Given the description of an element on the screen output the (x, y) to click on. 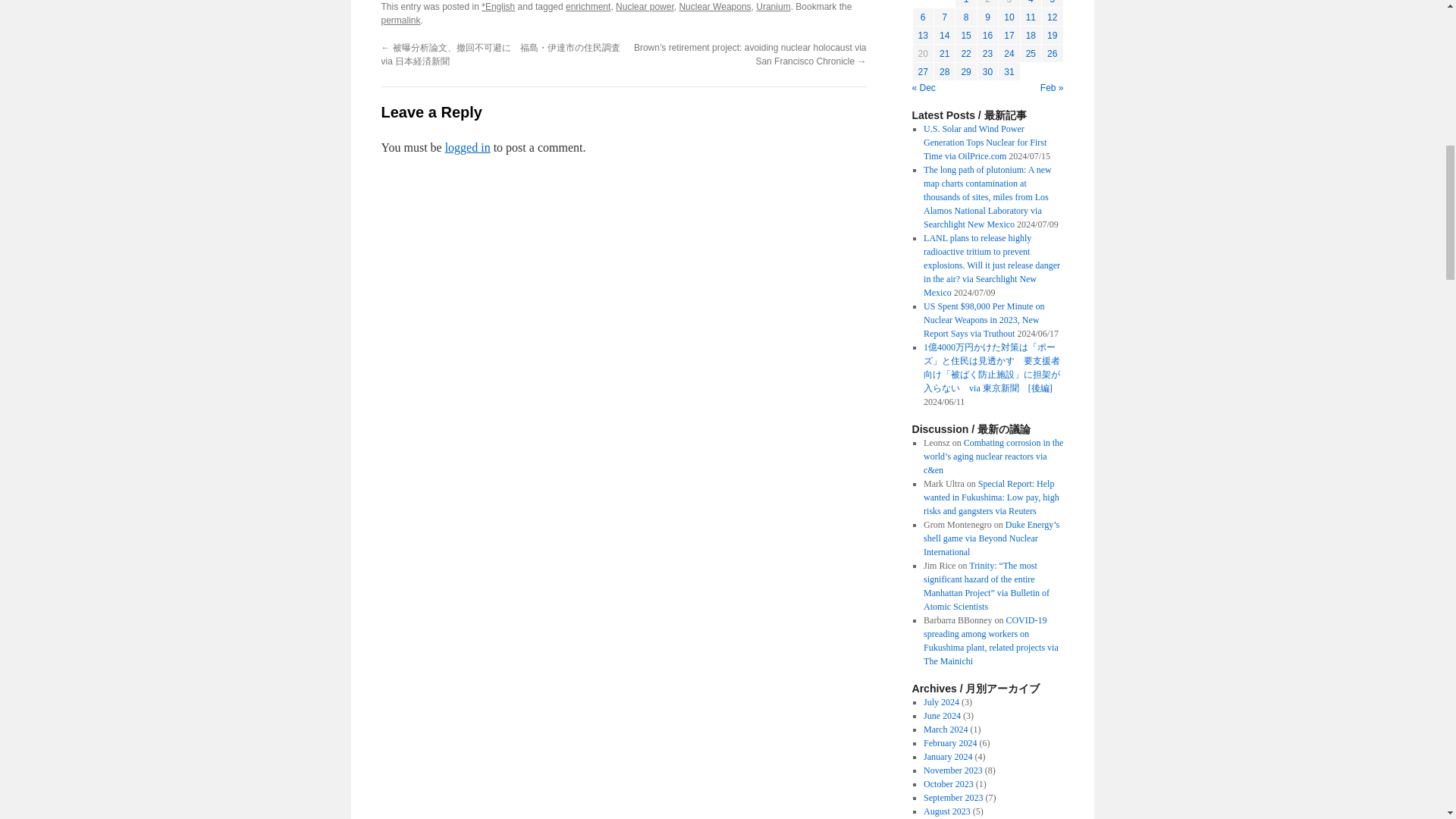
permalink (400, 20)
Nuclear power (644, 6)
Nuclear Weapons (714, 6)
logged in (467, 146)
enrichment (588, 6)
Uranium (772, 6)
